Given the description of an element on the screen output the (x, y) to click on. 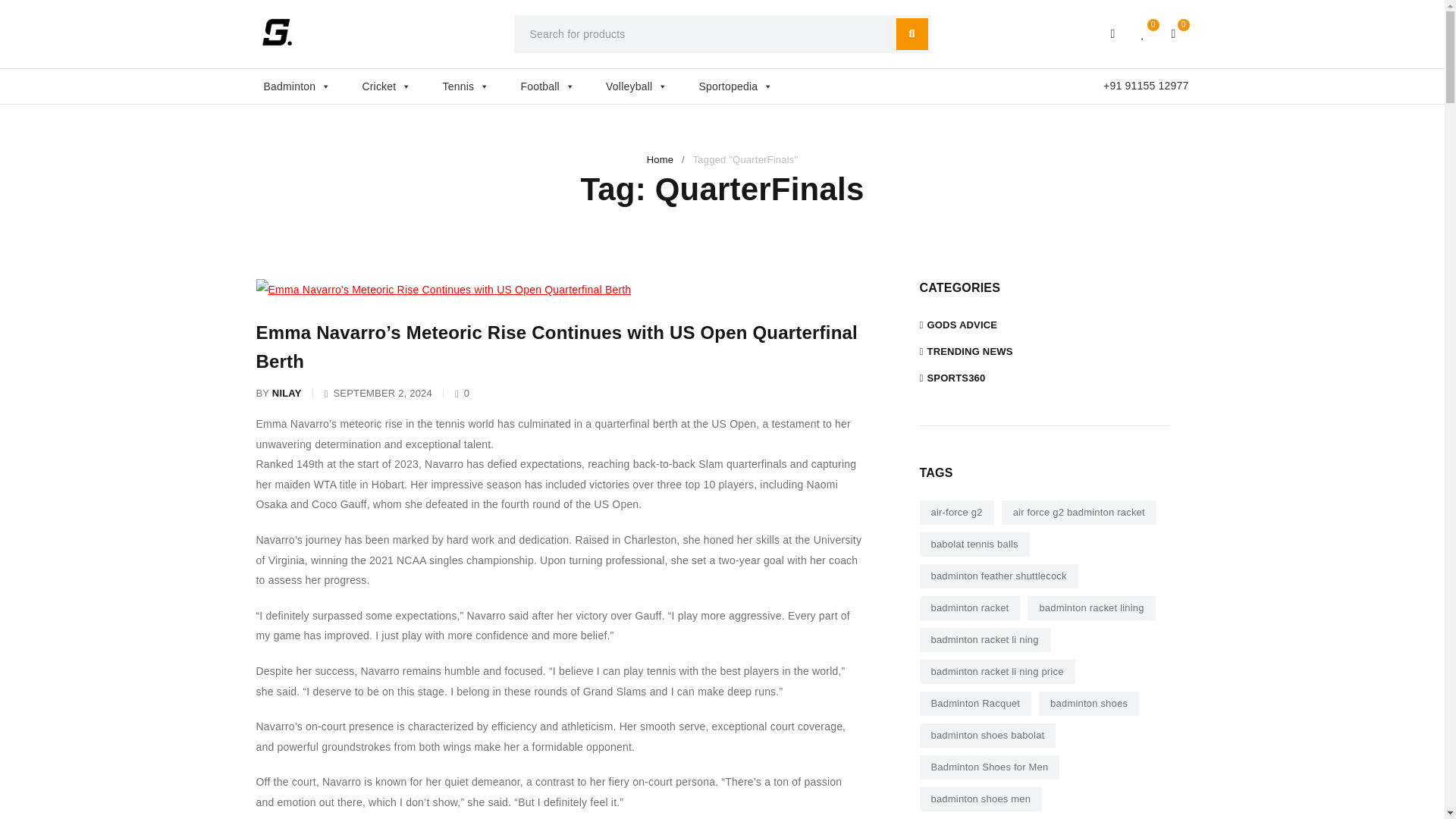
thegodofsports (277, 32)
Login or Register (1112, 33)
Wishlist (1143, 33)
View your shopping cart (1173, 33)
Posts by Nilay (286, 393)
Badminton (304, 86)
0 (1173, 33)
Search (912, 33)
Search (912, 33)
0 (1143, 33)
